Given the description of an element on the screen output the (x, y) to click on. 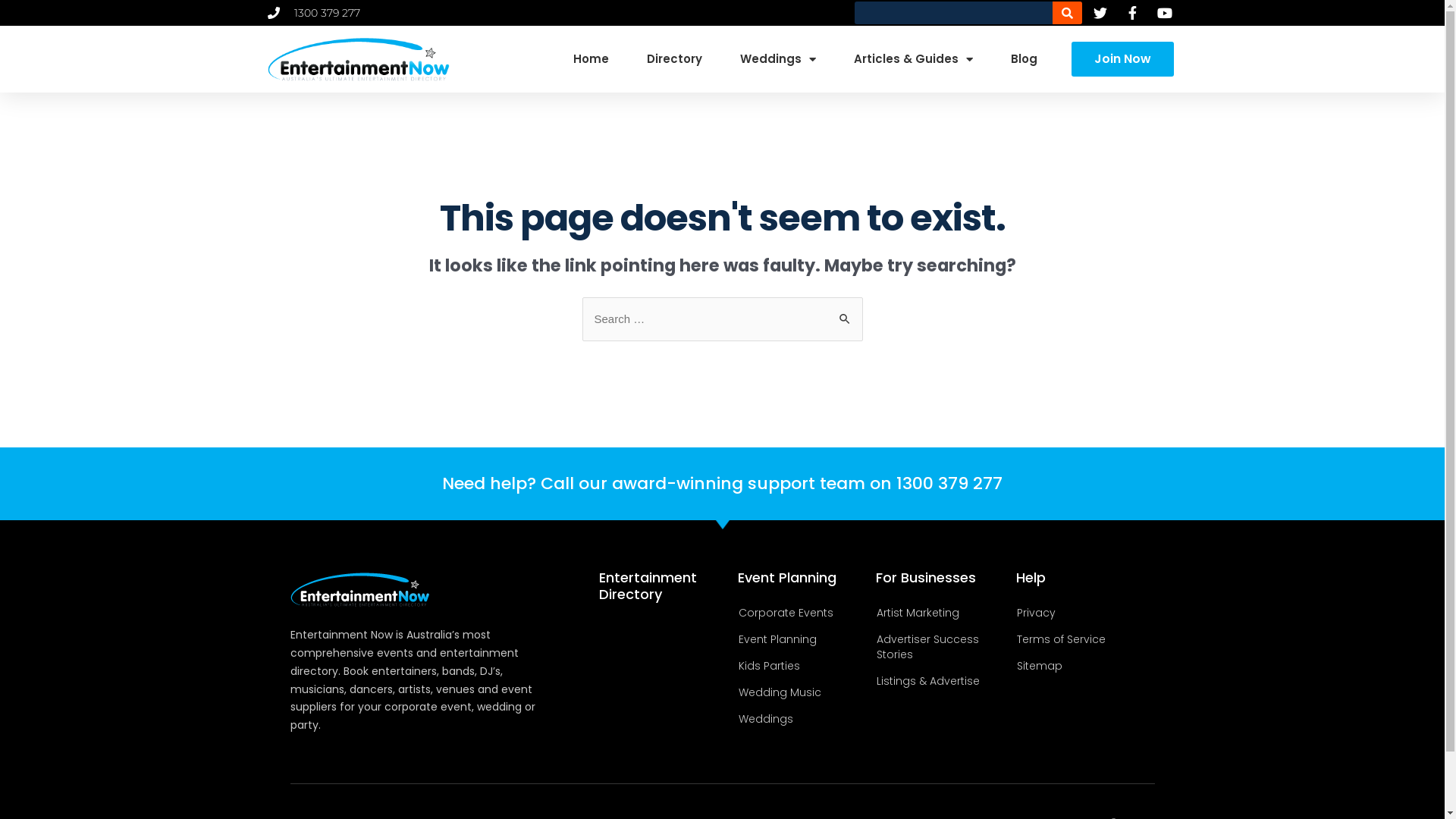
Wedding Music Element type: text (804, 691)
Listings & Advertise Element type: text (943, 680)
Event Planning Element type: text (804, 638)
Blog Element type: text (1023, 58)
Join Now Element type: text (1122, 58)
Kids Parties Element type: text (804, 665)
Weddings Element type: text (804, 718)
Weddings Element type: text (777, 58)
Sitemap Element type: text (1083, 665)
Corporate Events Element type: text (804, 612)
Advertiser Success Stories Element type: text (943, 646)
Search Element type: text (845, 312)
Directory Element type: text (674, 58)
Privacy Element type: text (1083, 612)
Terms of Service Element type: text (1083, 638)
Home Element type: text (590, 58)
Artist Marketing Element type: text (943, 612)
Articles & Guides Element type: text (912, 58)
Search Element type: text (1067, 12)
